Given the description of an element on the screen output the (x, y) to click on. 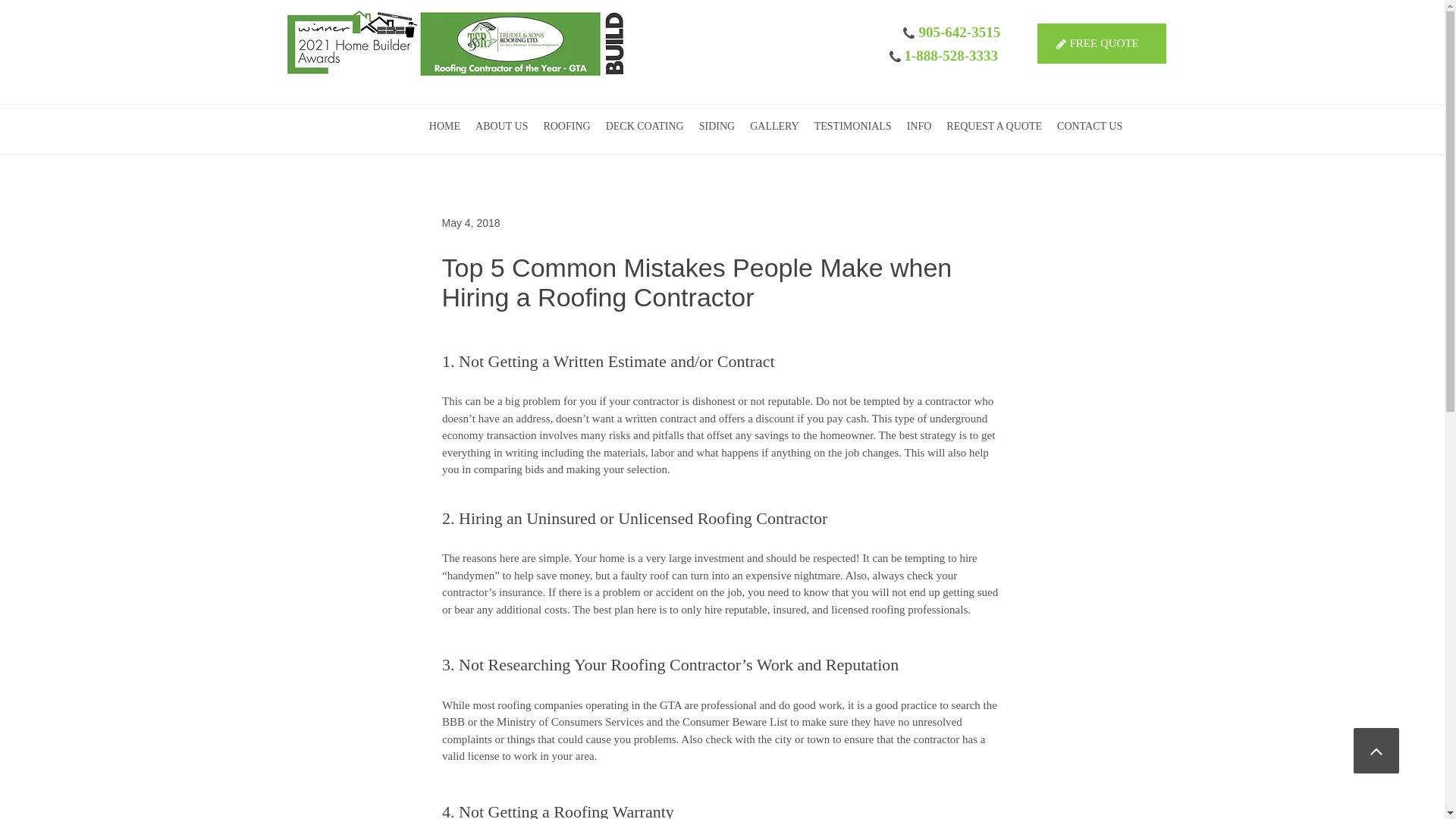
May 4, 2018 (470, 223)
ROOFING (565, 128)
1-888-528-3333 (950, 58)
FREE QUOTE (1101, 43)
TESTIMONIALS (852, 128)
REQUEST A QUOTE (994, 128)
DECK COATING (644, 128)
GALLERY (774, 128)
HOME (444, 128)
ABOUT US (501, 128)
SIDING (716, 128)
CONTACT US (1089, 128)
905-642-3515 (959, 34)
